Given the description of an element on the screen output the (x, y) to click on. 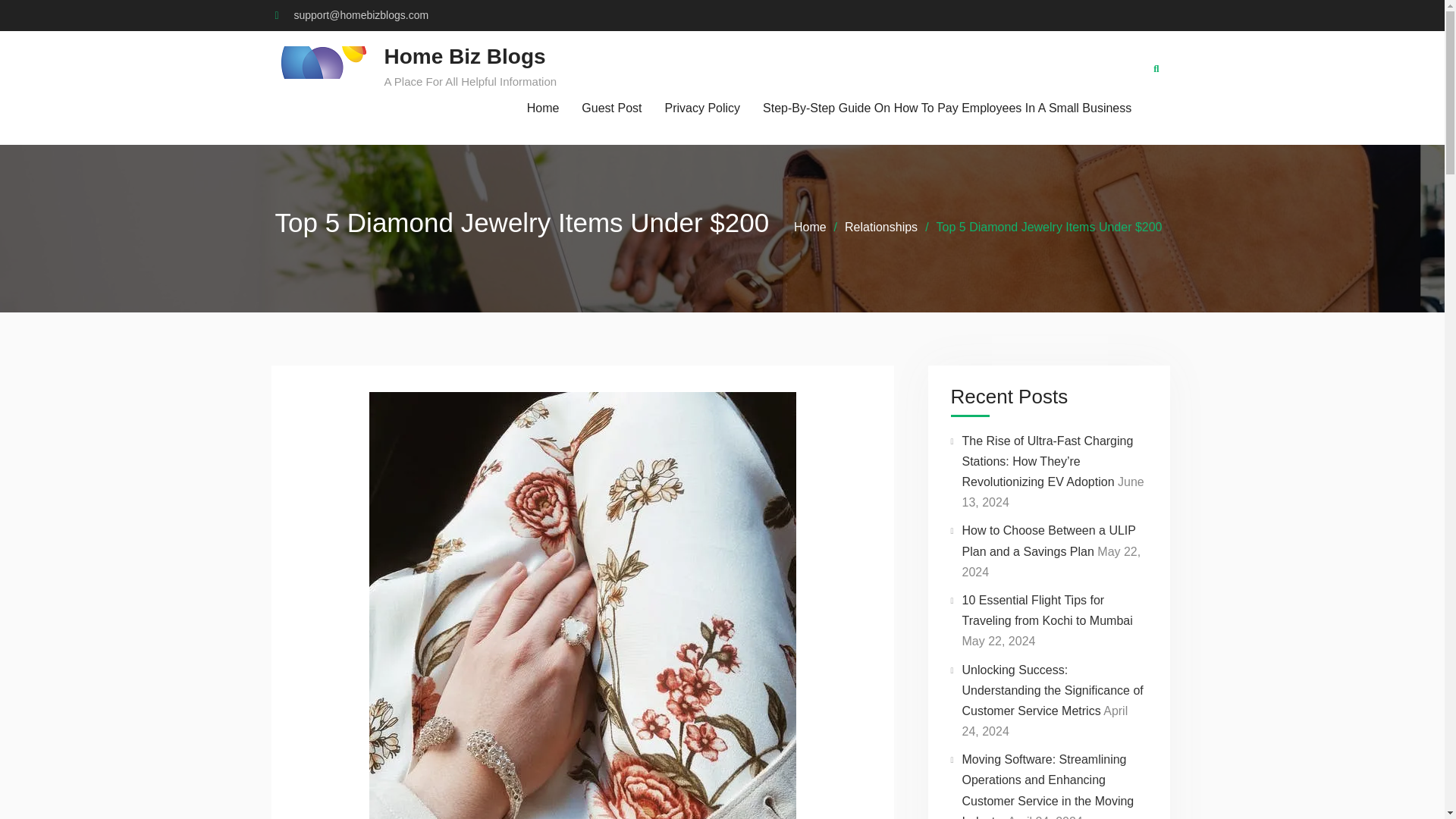
Privacy Policy (703, 107)
Relationships (880, 226)
Home (543, 107)
10 Essential Flight Tips for Traveling from Kochi to Mumbai (1046, 610)
Guest Post (611, 107)
Home (810, 226)
How to Choose Between a ULIP Plan and a Savings Plan (1047, 540)
Home Biz Blogs (464, 56)
